Given the description of an element on the screen output the (x, y) to click on. 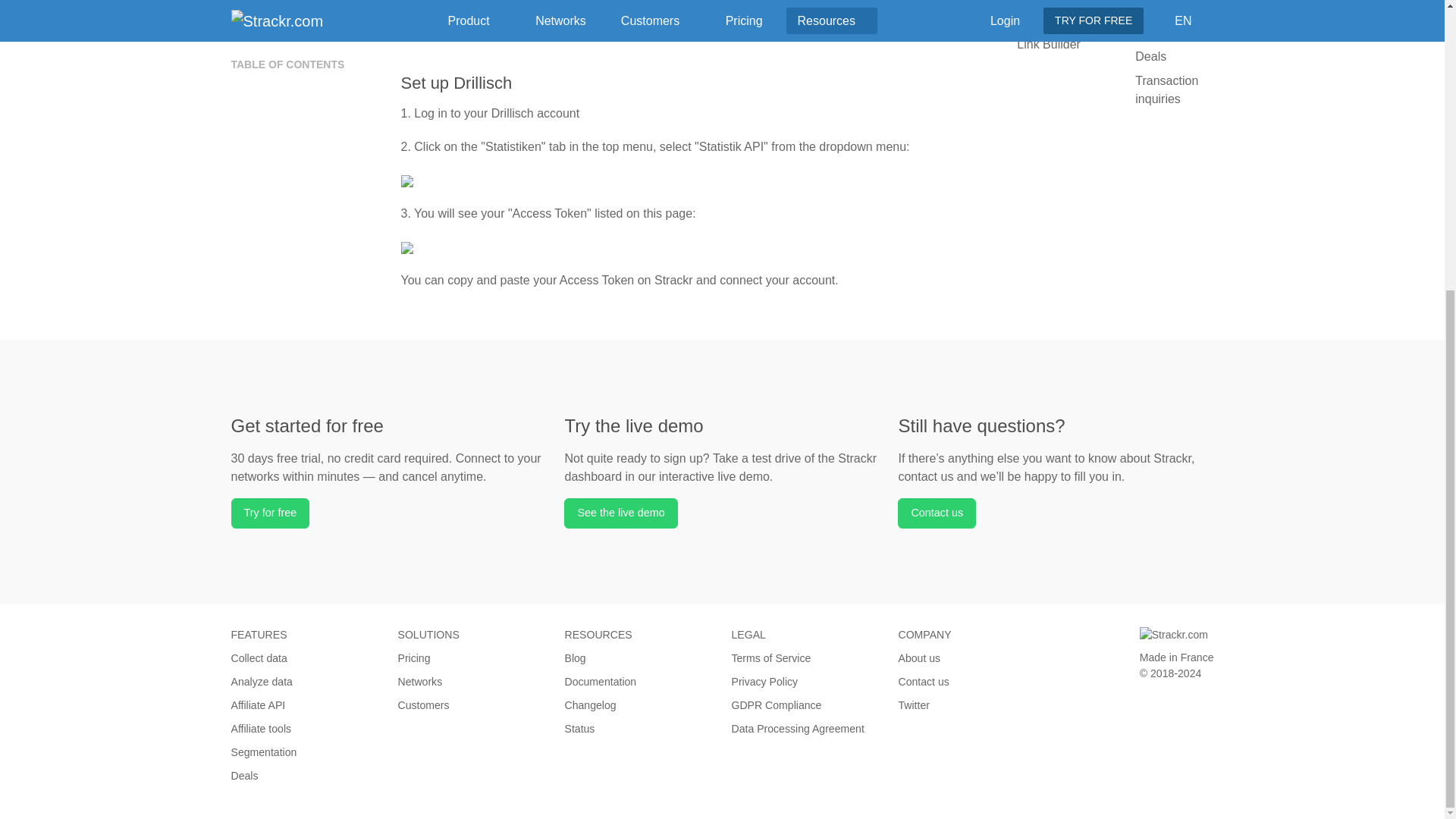
Try for free (269, 512)
Contact us (936, 512)
Analyze data (261, 681)
See the live demo (620, 512)
Collect data (258, 657)
